Given the description of an element on the screen output the (x, y) to click on. 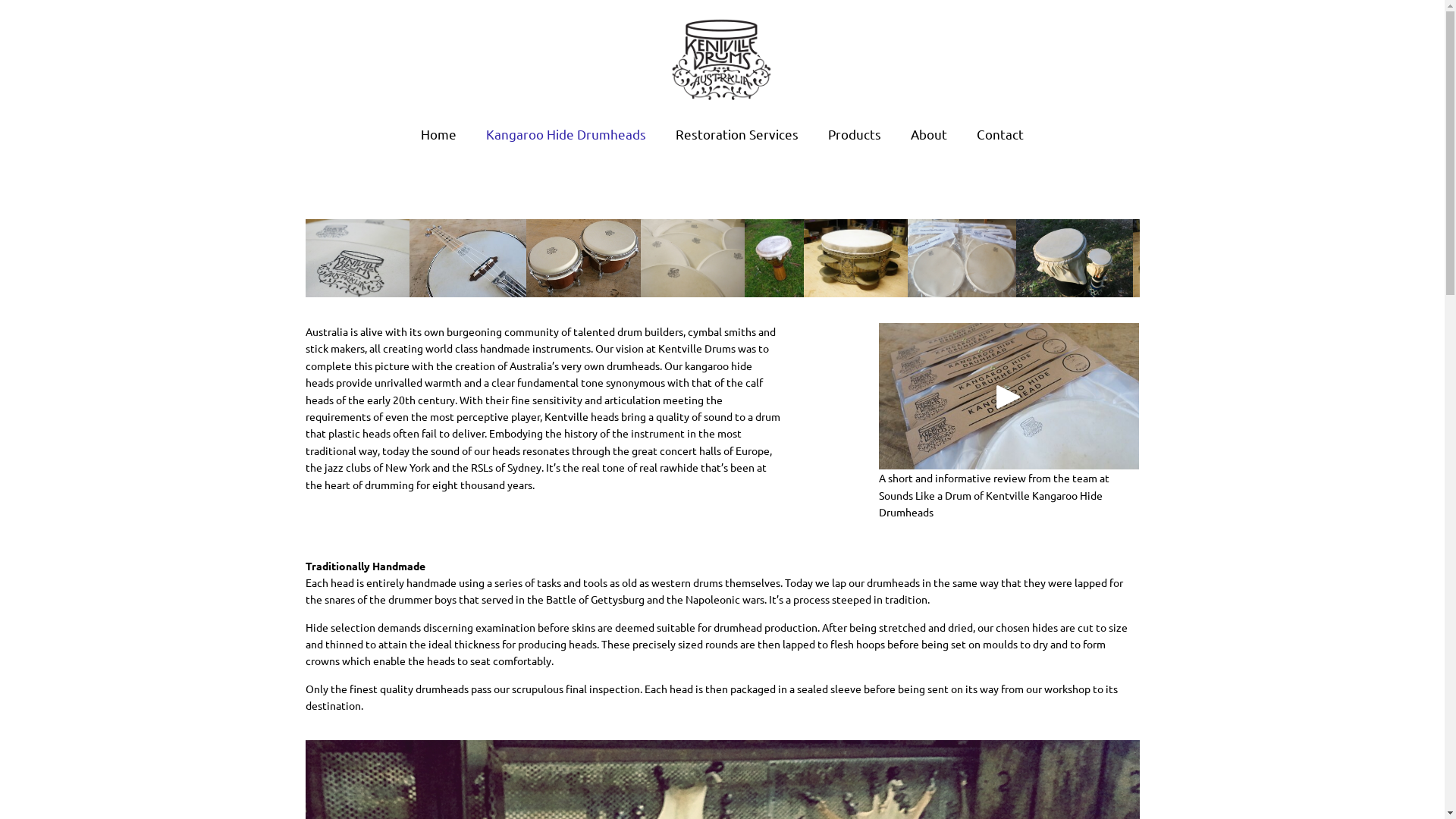
Restoration Services Element type: text (736, 134)
Home Element type: text (438, 134)
About Element type: text (928, 134)
Contact Element type: text (999, 134)
Kangaroo Hide Drumheads Element type: text (566, 134)
Products Element type: text (854, 134)
